Given the description of an element on the screen output the (x, y) to click on. 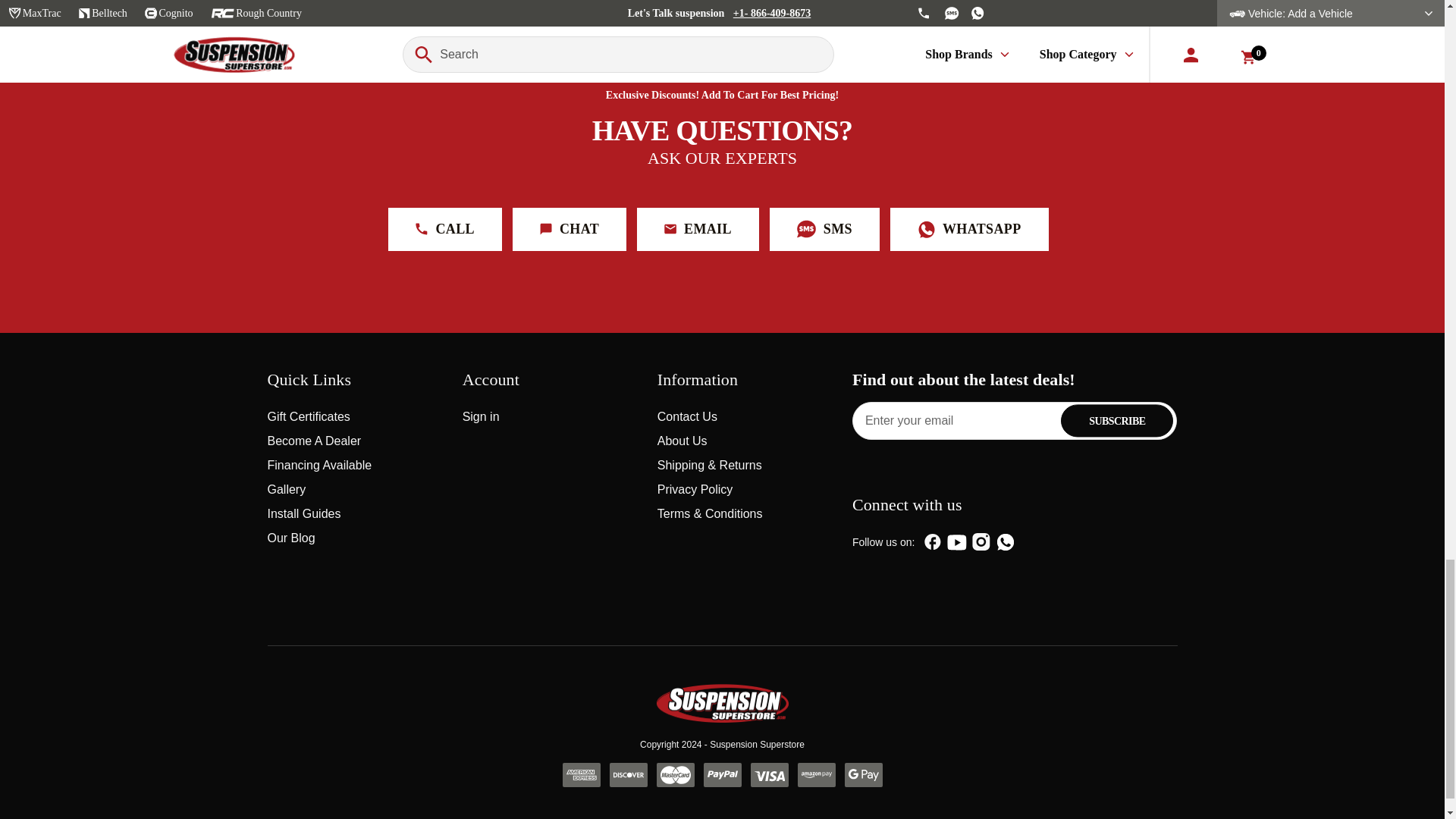
Subscribe (1117, 420)
